Given the description of an element on the screen output the (x, y) to click on. 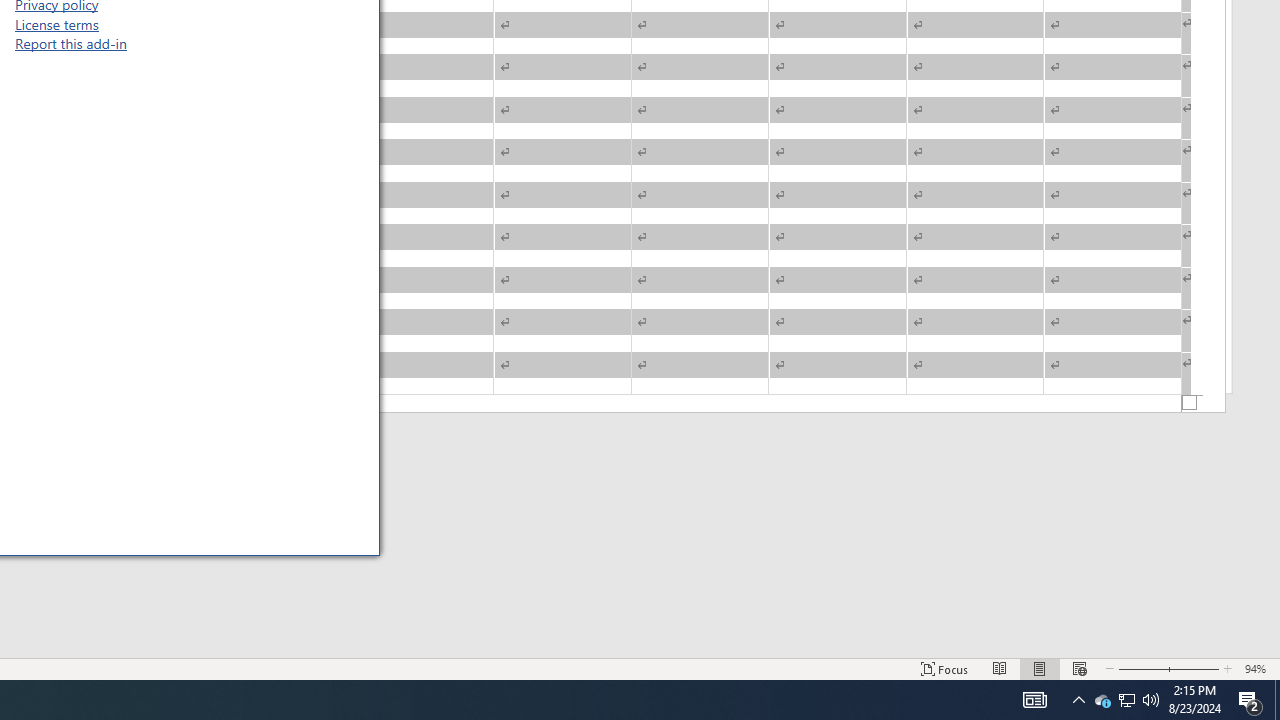
Report this add-in (70, 43)
